Given the description of an element on the screen output the (x, y) to click on. 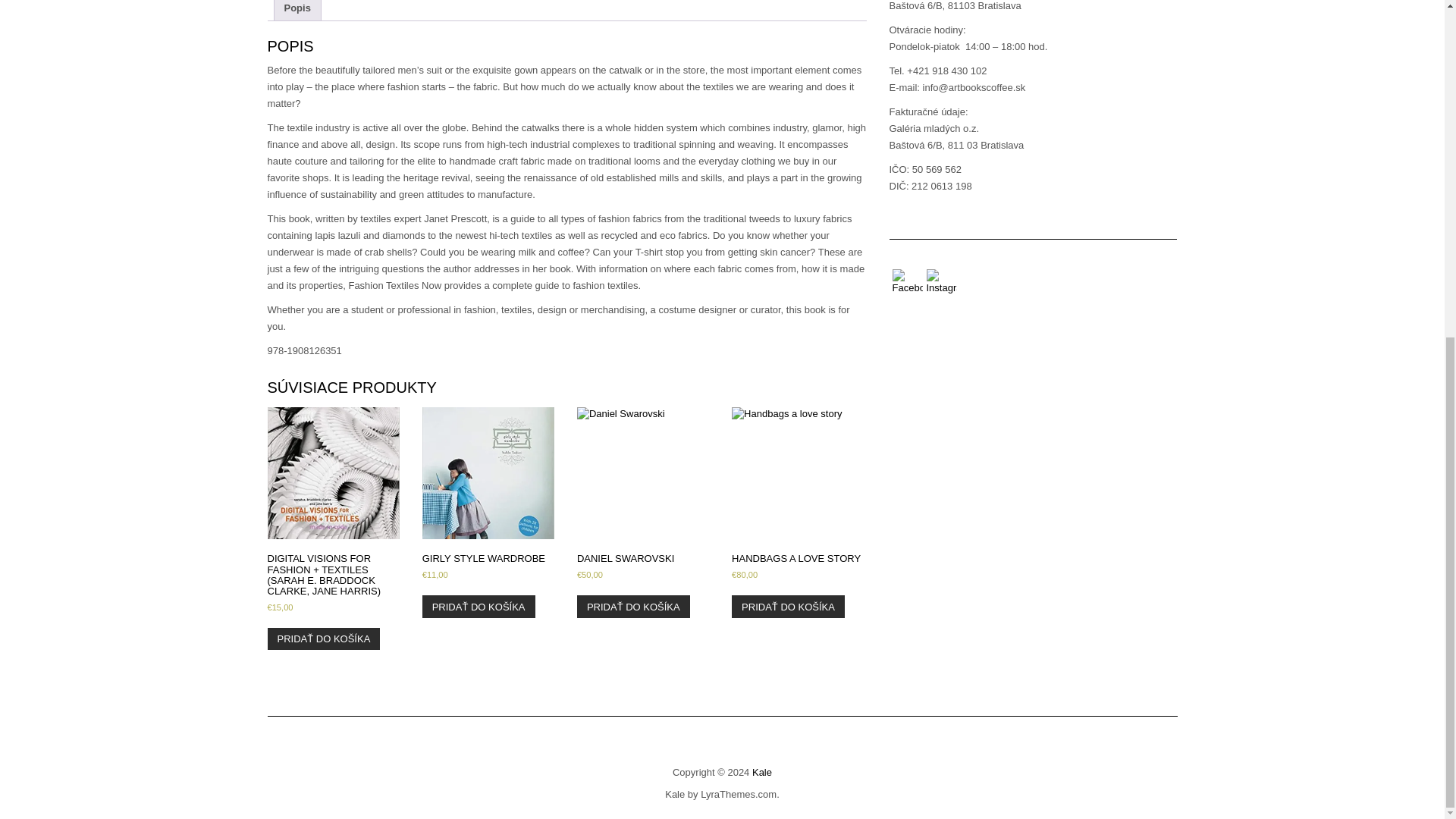
Kale (674, 794)
Facebook (906, 282)
Instagram (941, 282)
Kale (761, 772)
Popis (296, 10)
